Given the description of an element on the screen output the (x, y) to click on. 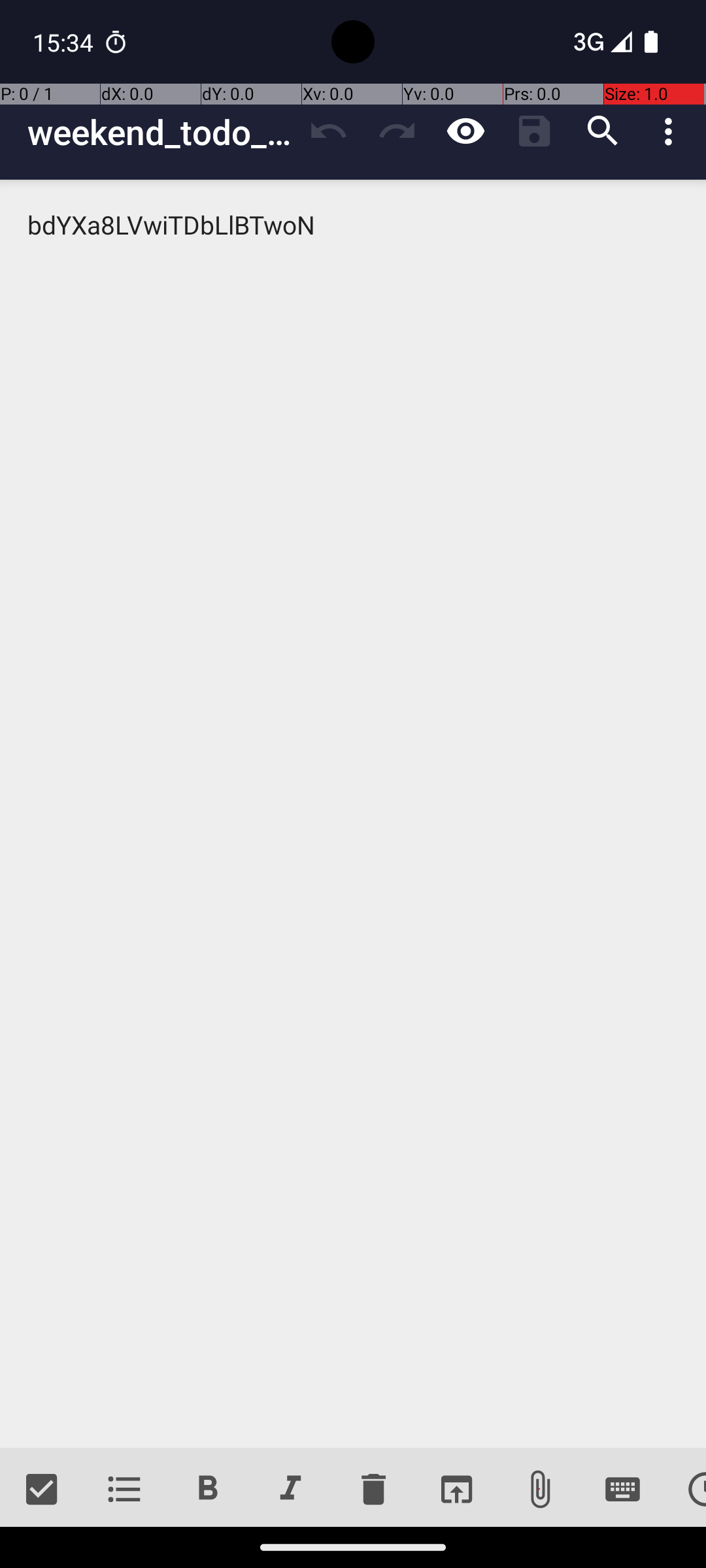
weekend_todo_list_edited Element type: android.widget.TextView (160, 131)
bdYXa8LVwiTDbLlBTwoN
 Element type: android.widget.EditText (353, 813)
